Given the description of an element on the screen output the (x, y) to click on. 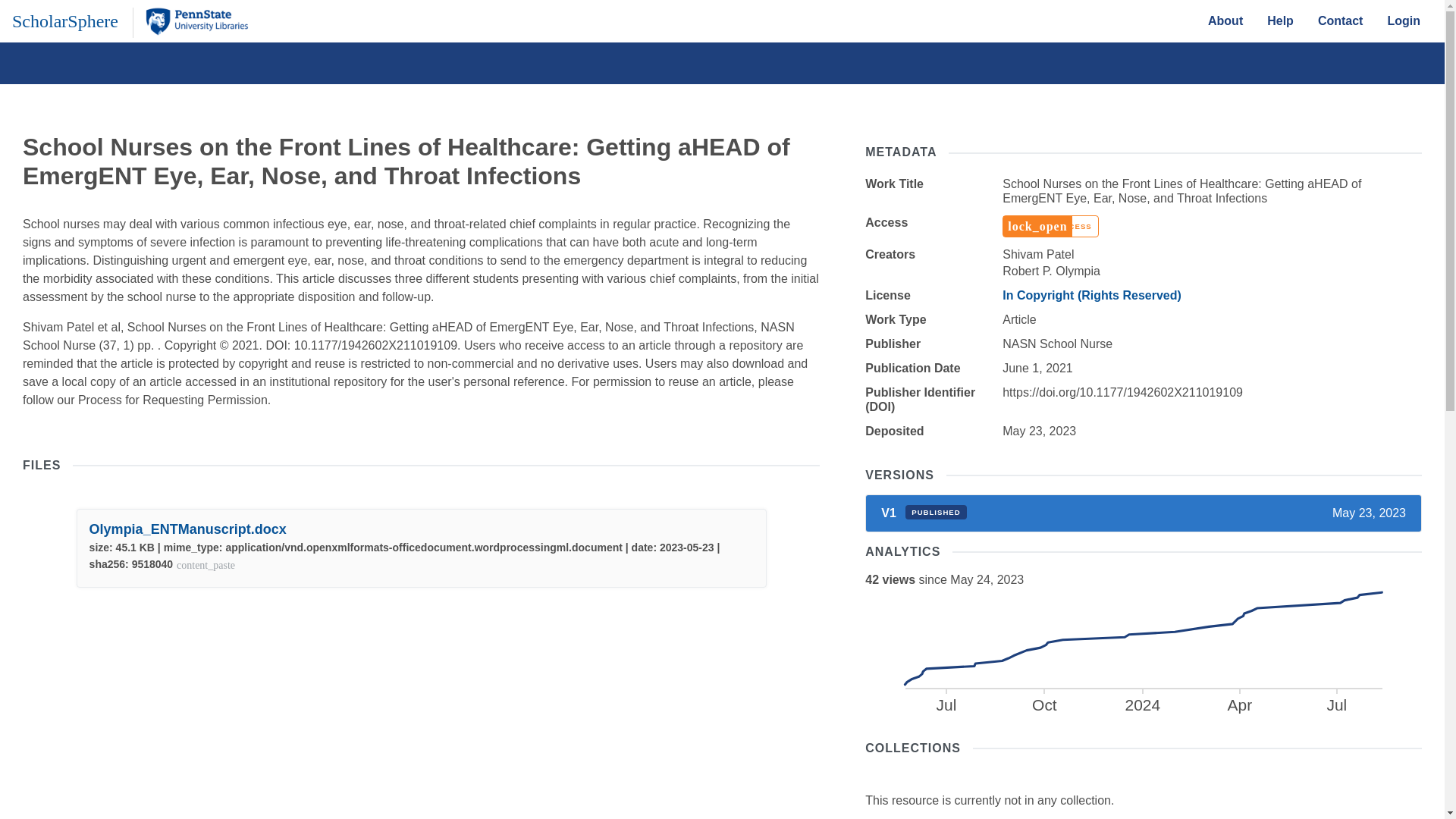
ScholarSphere (64, 20)
Contact (1142, 652)
Help (1340, 20)
V1 PUBLISHED (1280, 20)
About (923, 512)
Login (1225, 20)
